Given the description of an element on the screen output the (x, y) to click on. 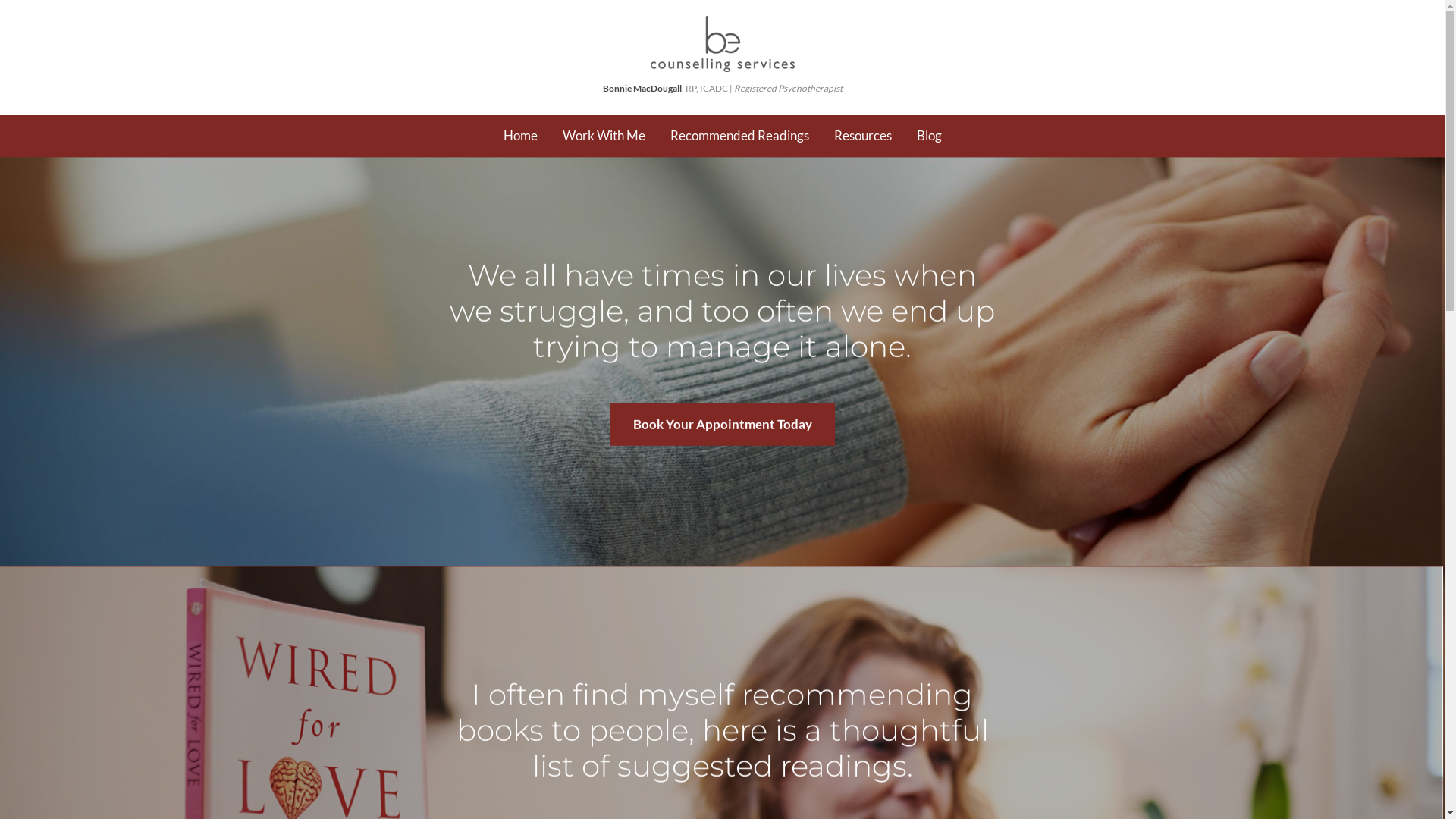
Blog Element type: text (929, 135)
Resources Element type: text (862, 135)
Work With Me Element type: text (602, 135)
Recommended Readings Element type: text (738, 135)
Book Your Appointment Today Element type: text (721, 424)
Home Element type: text (519, 135)
